Given the description of an element on the screen output the (x, y) to click on. 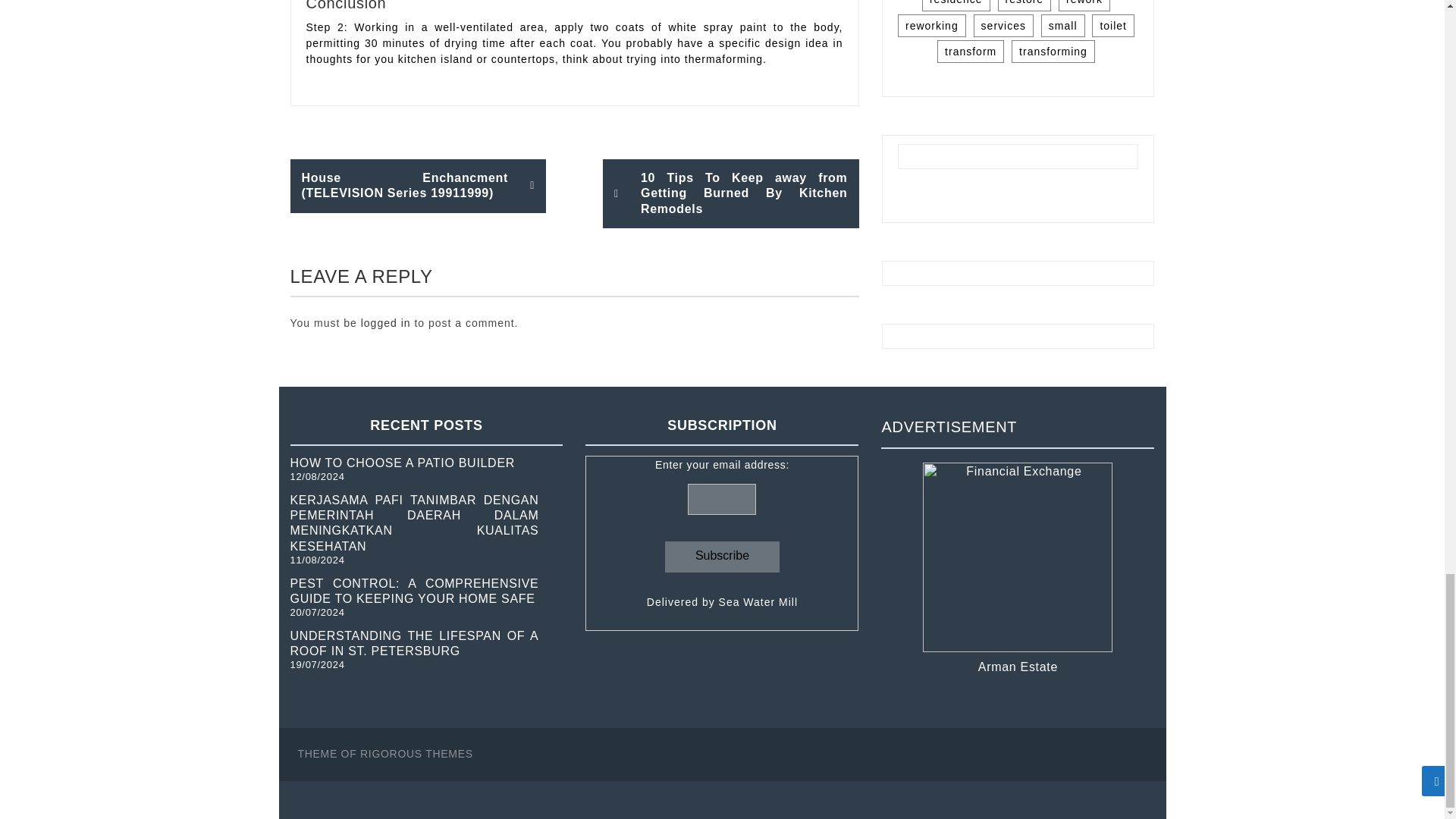
Subscribe (721, 556)
10 Tips To Keep away from Getting Burned By Kitchen Remodels (730, 193)
logged in (385, 322)
Financial Exchange (1017, 556)
